Given the description of an element on the screen output the (x, y) to click on. 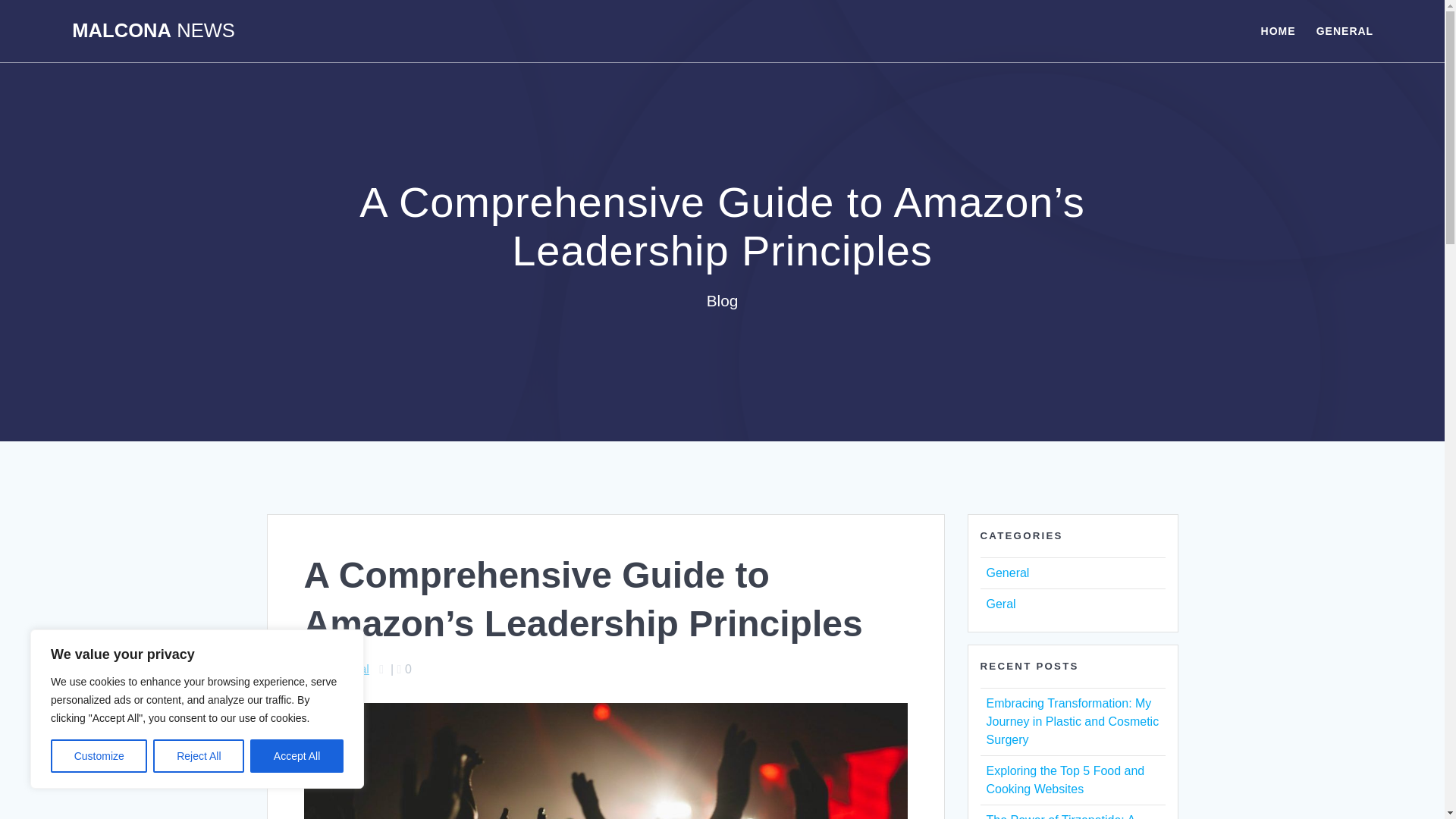
Exploring the Top 5 Food and Cooking Websites (1064, 779)
Reject All (198, 756)
General (1007, 572)
Accept All (296, 756)
Geral (999, 603)
General (347, 668)
Customize (98, 756)
GENERAL (1344, 30)
